Given the description of an element on the screen output the (x, y) to click on. 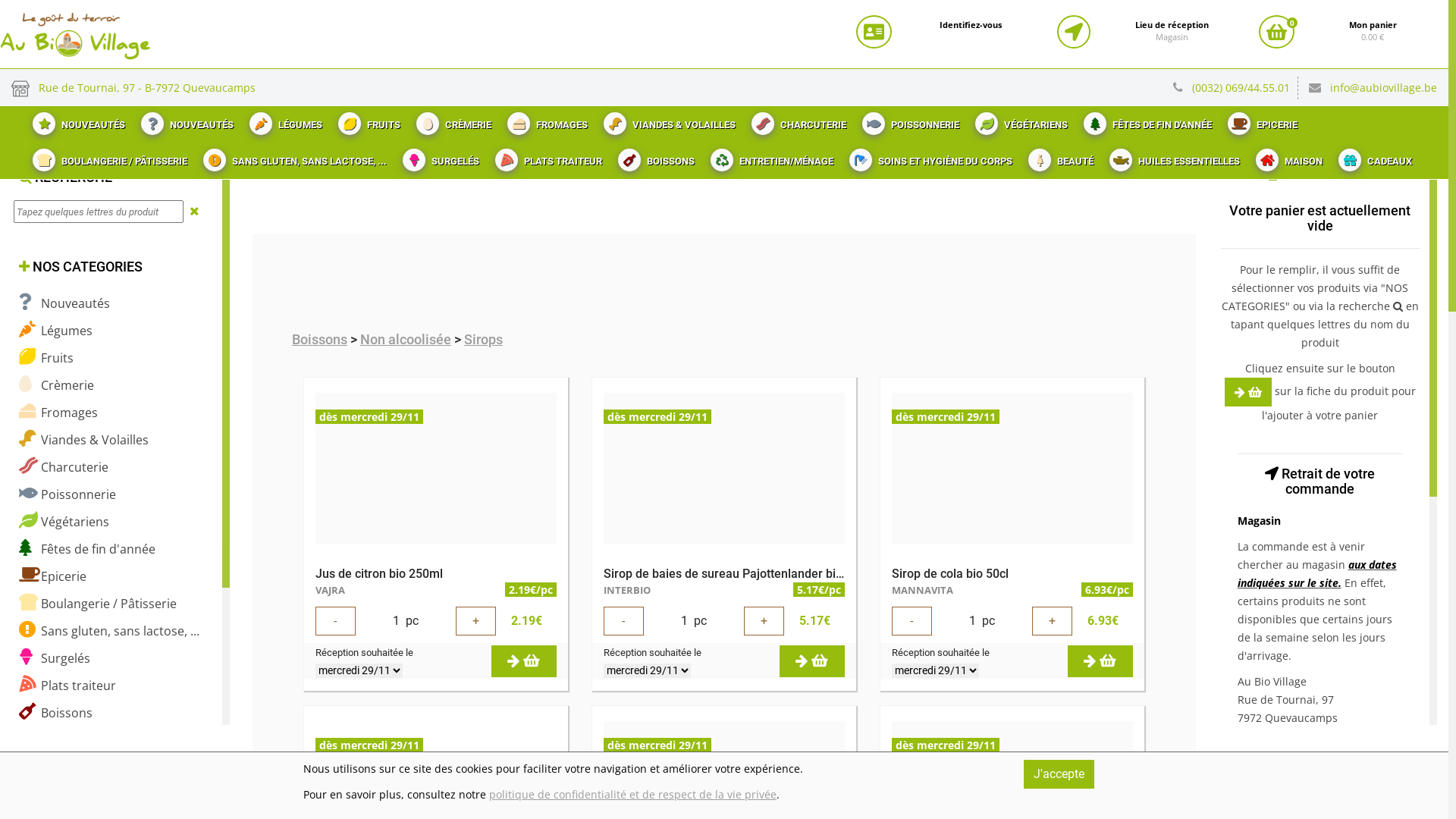
Identifiez-vous Element type: text (970, 24)
POISSONNERIE Element type: text (908, 120)
Viandes & Volailles Element type: text (83, 438)
VIANDES & VOLAILLES Element type: text (667, 120)
0 Element type: text (1276, 31)
info@aubiovillage.be Element type: text (1383, 87)
Charcuterie Element type: text (63, 466)
FRUITS Element type: text (367, 120)
- Element type: text (335, 620)
- Element type: text (911, 620)
J'accepte Element type: text (1058, 773)
+ Element type: text (763, 620)
Sirops Element type: text (483, 339)
Fruits Element type: text (45, 357)
+ Element type: text (1052, 620)
PLATS TRAITEUR Element type: text (546, 156)
CADEAUX Element type: text (1373, 156)
SANS GLUTEN, SANS LACTOSE, ... Element type: text (292, 156)
HUILES ESSENTIELLES Element type: text (1172, 156)
CHARCUTERIE Element type: text (796, 120)
Fromages Element type: text (57, 411)
Sans gluten, sans lactose, ... Element type: text (108, 630)
Poissonnerie Element type: text (67, 493)
- Element type: text (623, 620)
EPICERIE Element type: text (1260, 120)
Plats traiteur Element type: text (67, 684)
FROMAGES Element type: text (545, 120)
MAISON Element type: text (1286, 156)
Boissons Element type: text (319, 339)
(0032) 069/44.55.01 Element type: text (1245, 87)
Boissons Element type: text (55, 711)
+ Element type: text (475, 620)
BOISSONS Element type: text (654, 156)
Epicerie Element type: text (52, 575)
